Given the description of an element on the screen output the (x, y) to click on. 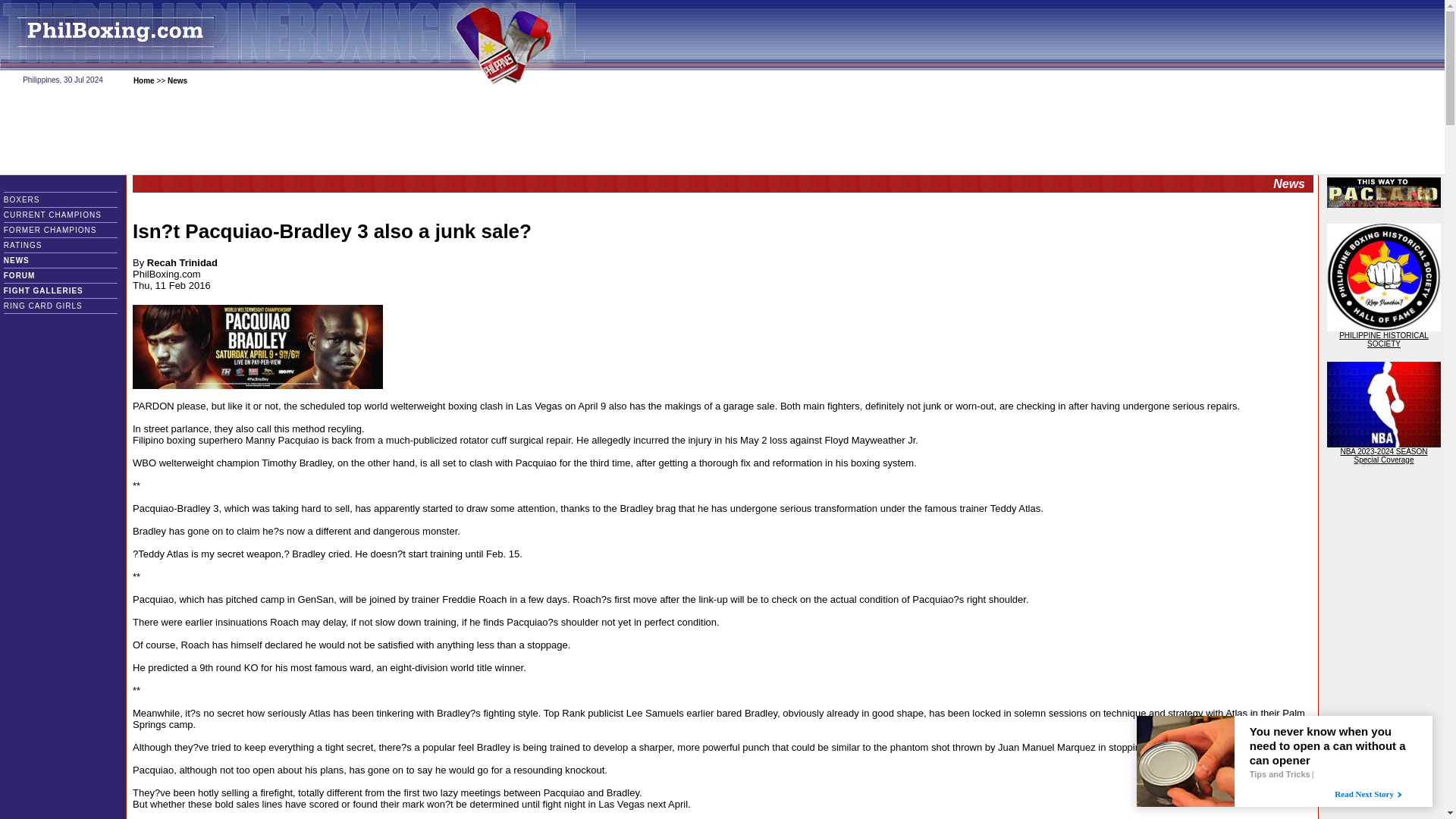
FIGHT GALLERIES         (55, 290)
NEWS            (32, 260)
Advertisement (721, 131)
News (177, 80)
FORUM         (31, 275)
Home (143, 80)
